Given the description of an element on the screen output the (x, y) to click on. 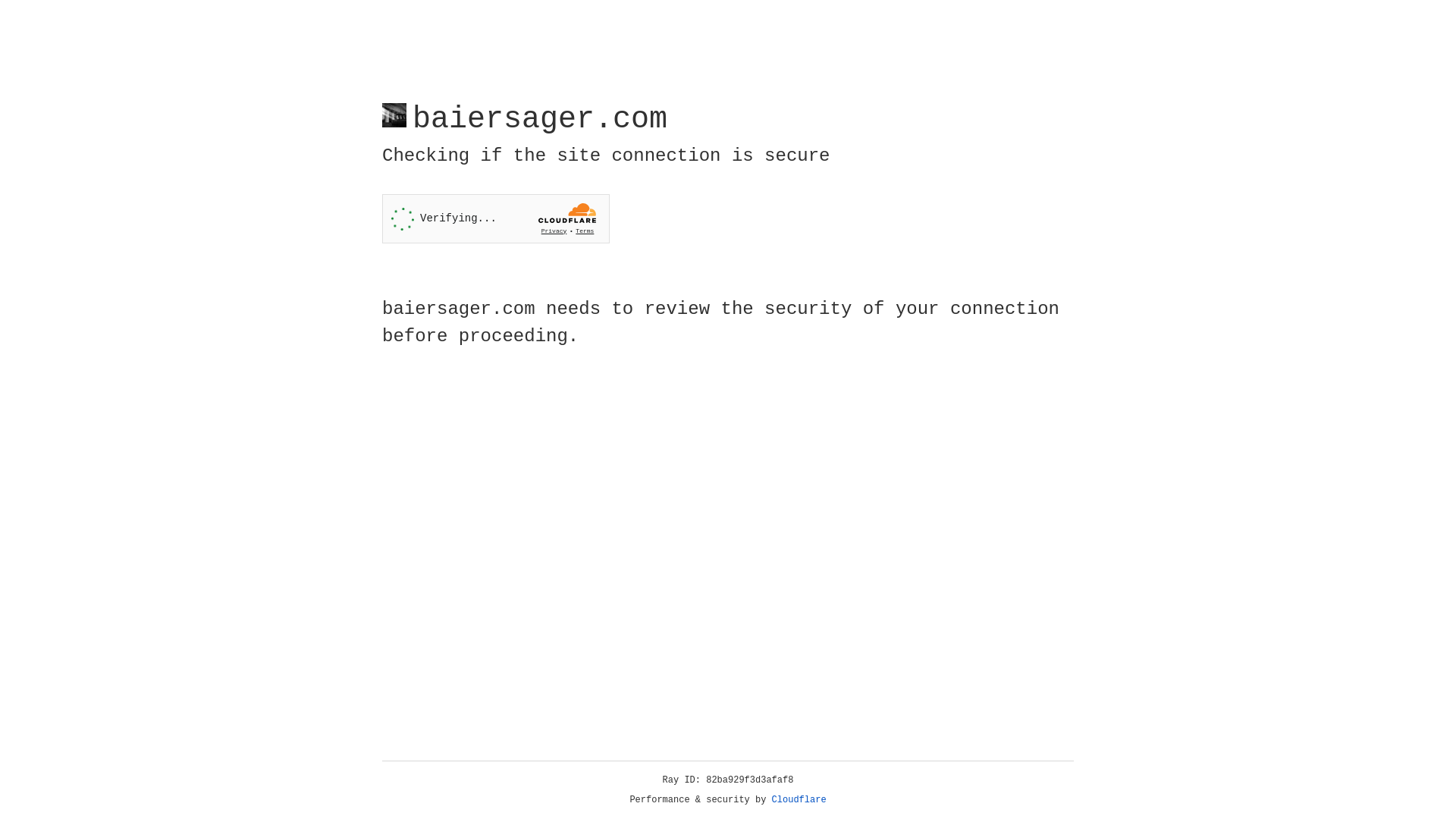
Cloudflare Element type: text (798, 799)
Widget containing a Cloudflare security challenge Element type: hover (495, 218)
